Given the description of an element on the screen output the (x, y) to click on. 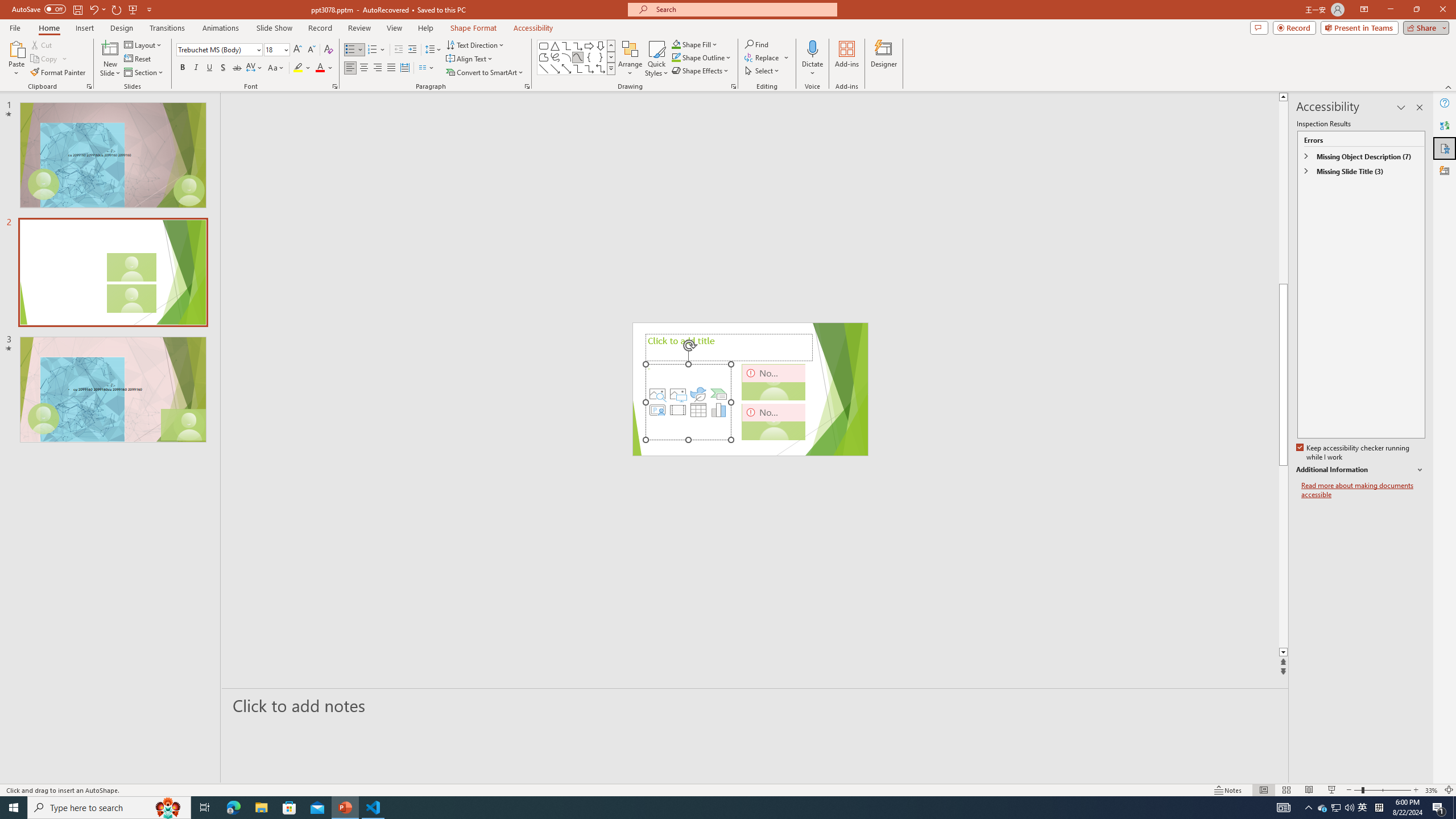
Content Placeholder (688, 401)
